Given the description of an element on the screen output the (x, y) to click on. 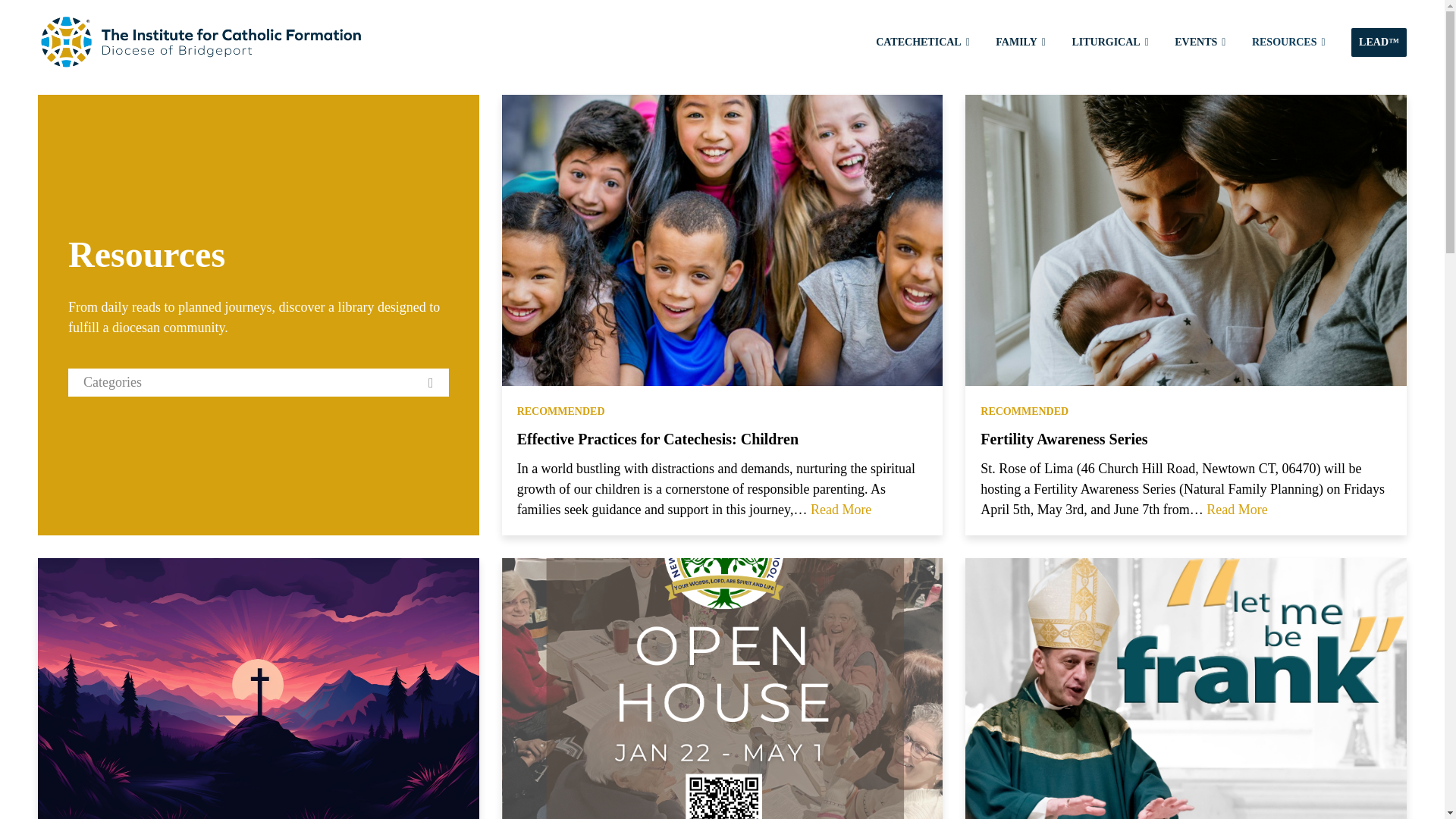
CATECHETICAL (922, 41)
